Given the description of an element on the screen output the (x, y) to click on. 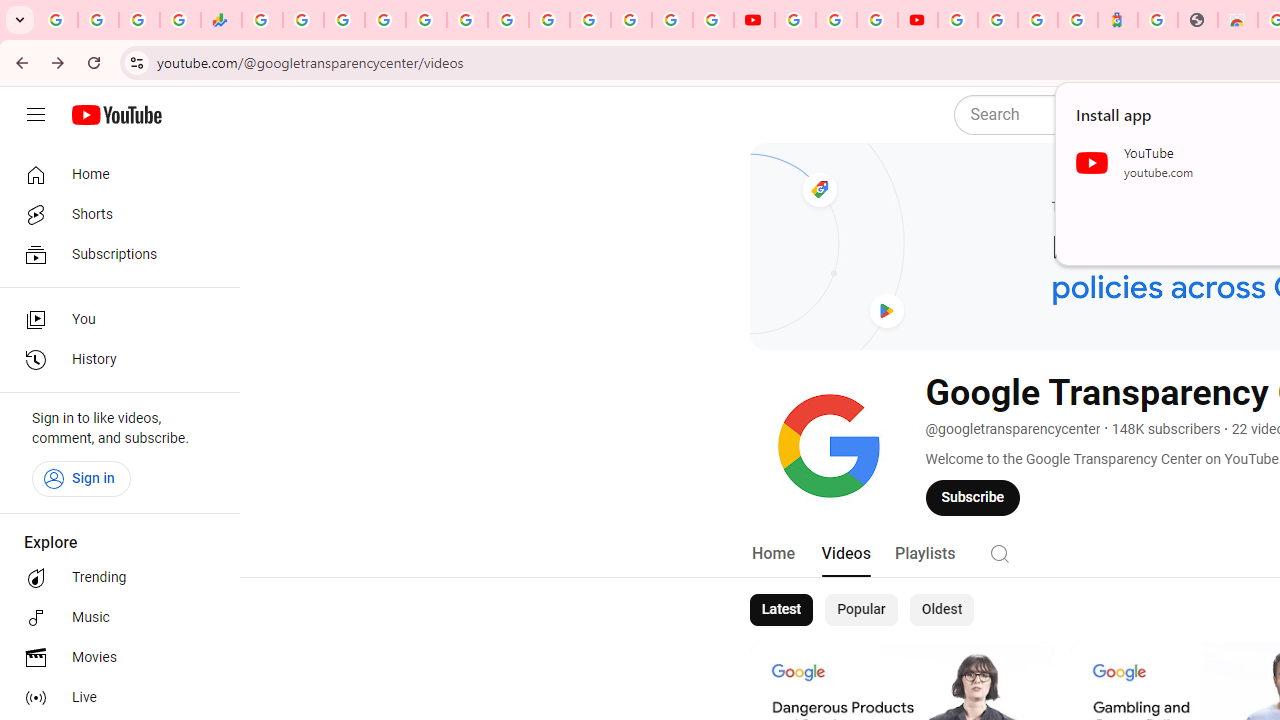
Sign in - Google Accounts (997, 20)
Live (113, 697)
Chrome Web Store - Household (1238, 20)
YouTube (548, 20)
Content Creator Programs & Opportunities - YouTube Creators (918, 20)
Home (772, 553)
Android TV Policies and Guidelines - Transparency Center (507, 20)
Atour Hotel - Google hotels (1117, 20)
